Given the description of an element on the screen output the (x, y) to click on. 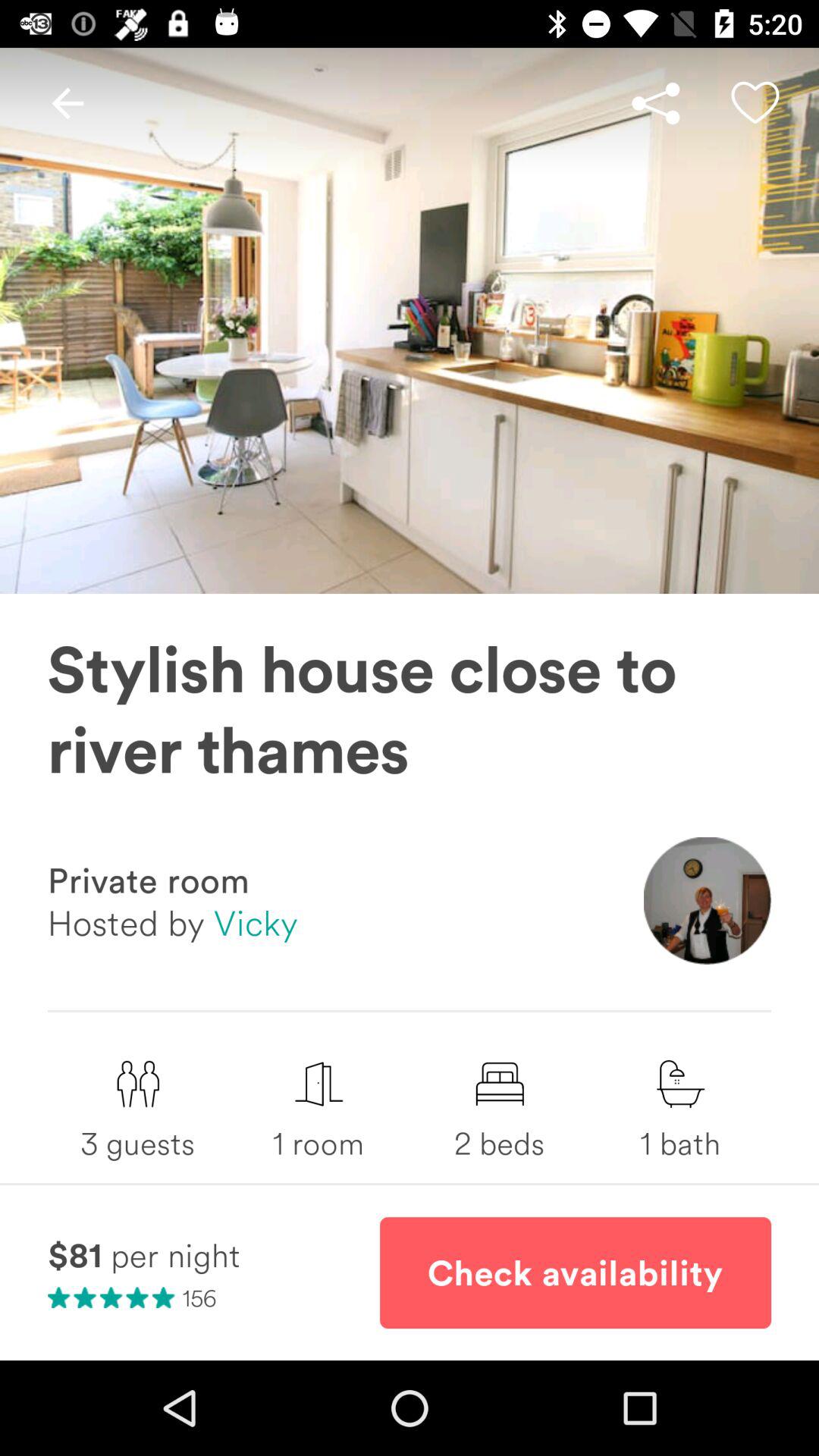
click the icon below the private room icon (172, 922)
